Given the description of an element on the screen output the (x, y) to click on. 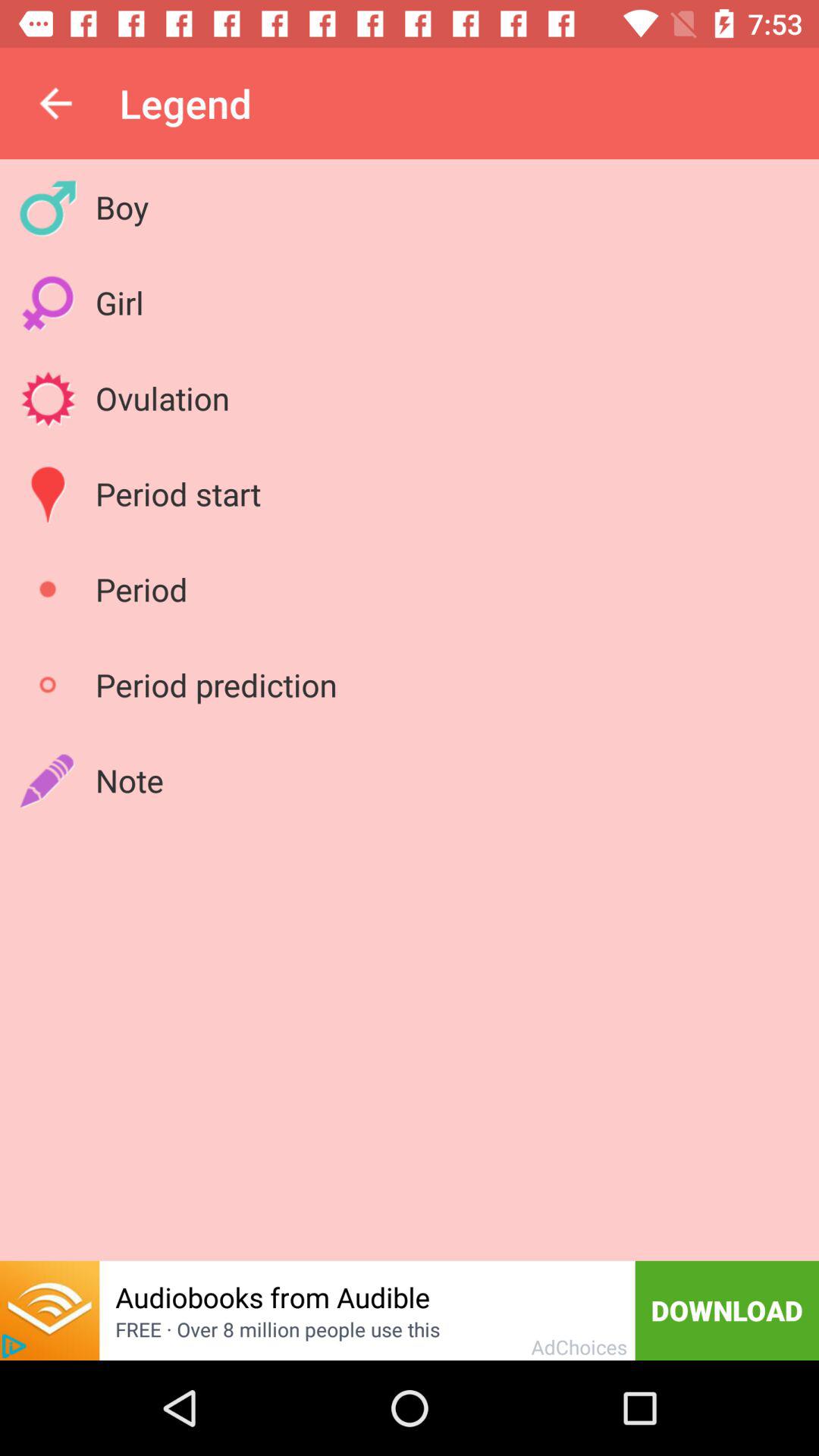
open new link (49, 1310)
